Given the description of an element on the screen output the (x, y) to click on. 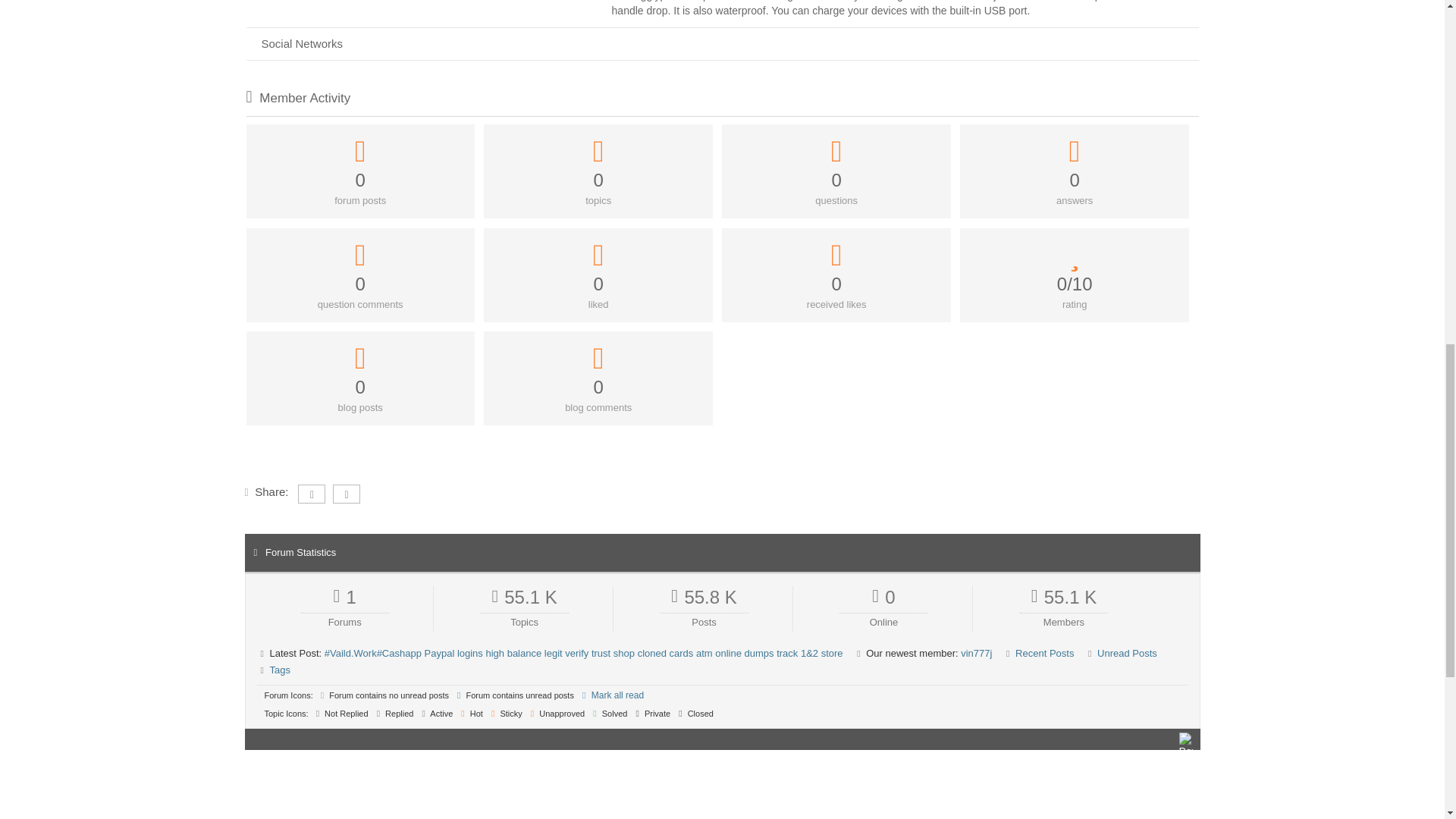
Signature (722, 13)
vin777j (975, 653)
Social Networks (722, 43)
